Given the description of an element on the screen output the (x, y) to click on. 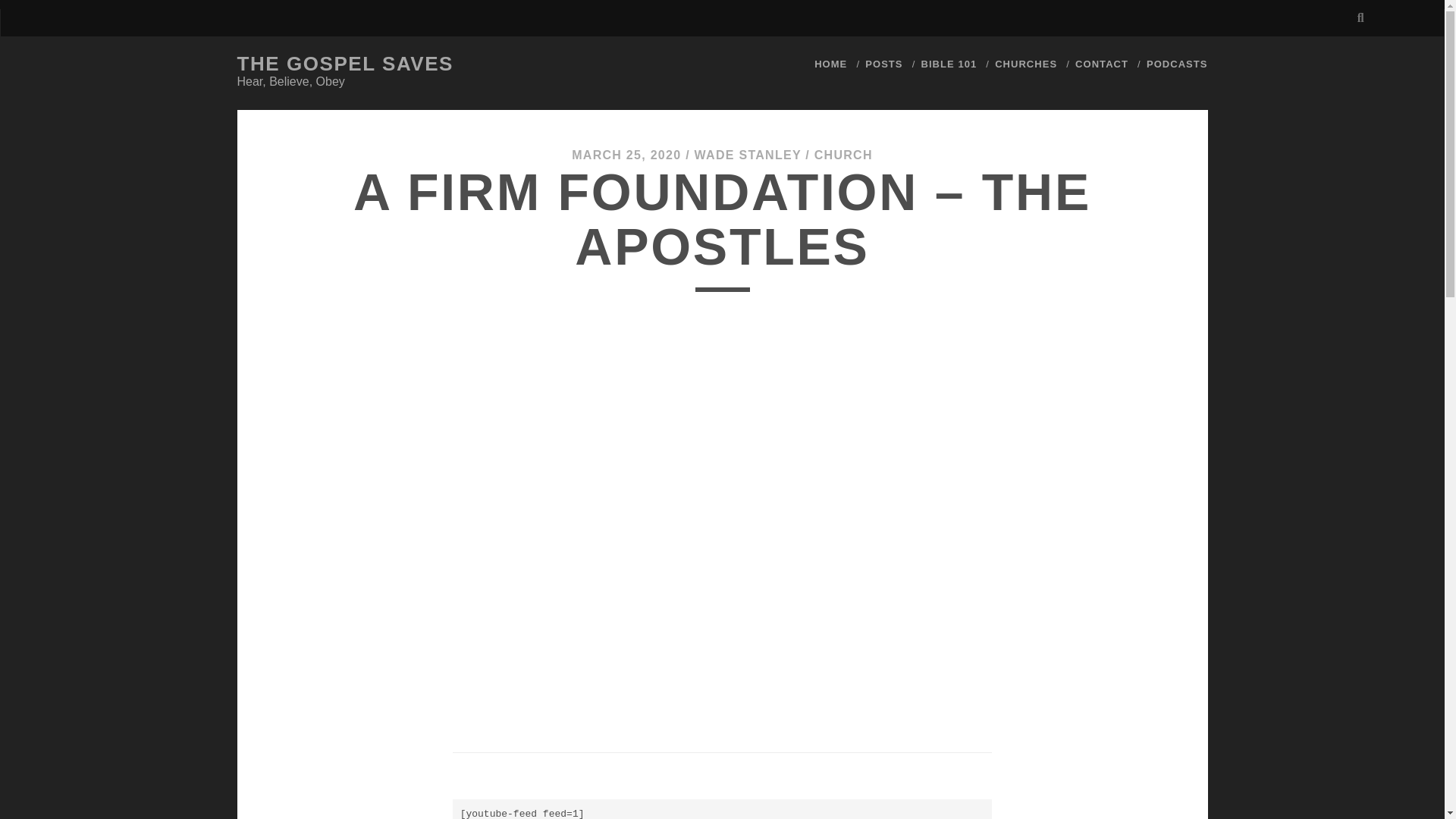
BIBLE 101 (948, 64)
PODCASTS (1177, 64)
WADE STANLEY (748, 154)
CONTACT (1101, 64)
CHURCHES (1025, 64)
CHURCH (842, 154)
Posts by Wade Stanley (748, 154)
POSTS (883, 64)
THE GOSPEL SAVES (343, 63)
HOME (830, 64)
